Given the description of an element on the screen output the (x, y) to click on. 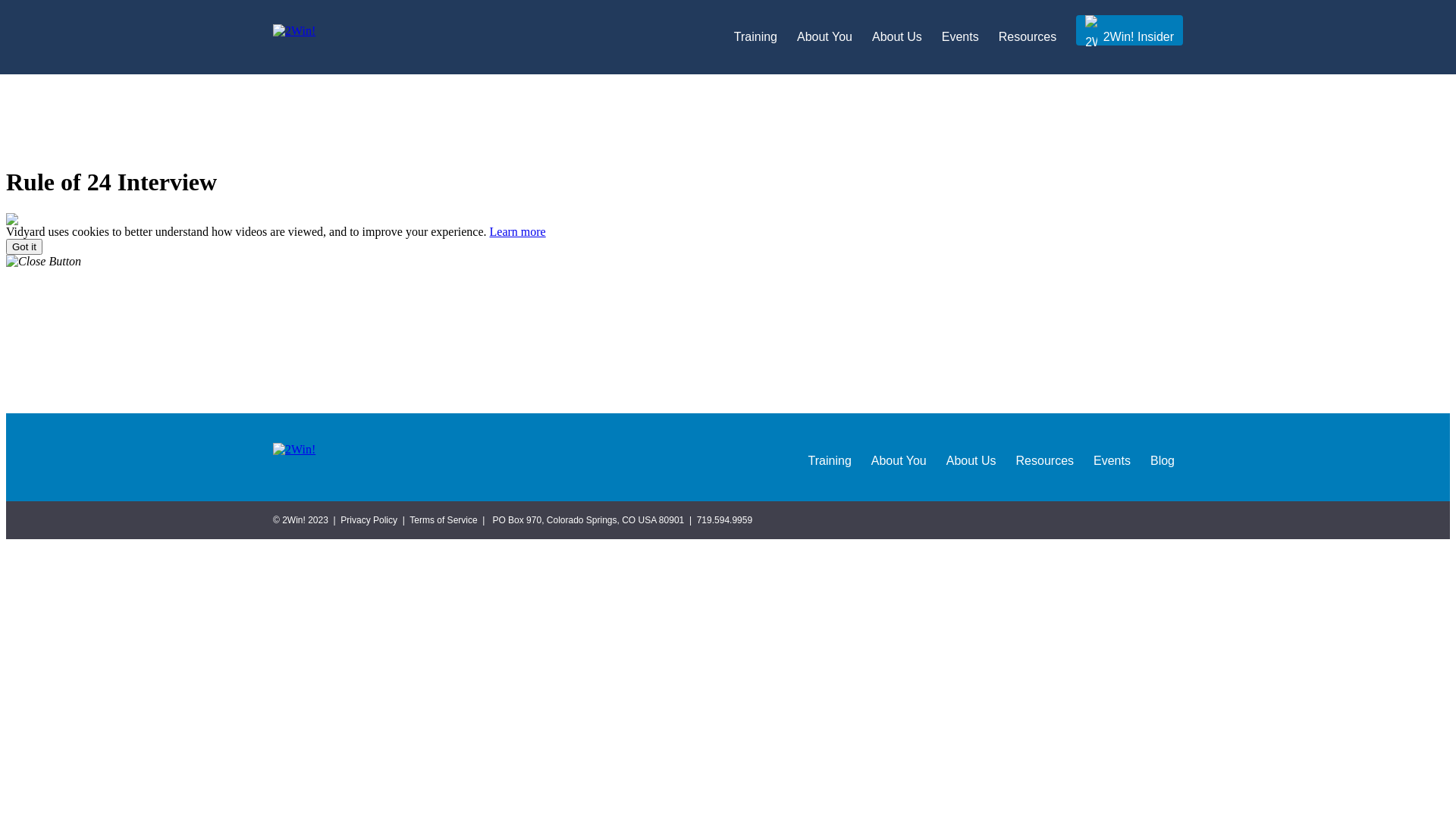
Resources Element type: text (1044, 456)
Events Element type: text (960, 37)
Training Element type: text (829, 456)
Terms of Service Element type: text (442, 519)
Blog Element type: text (1162, 456)
Events Element type: text (1112, 456)
About Us Element type: text (896, 37)
2Win! Insider Element type: text (1129, 30)
About Us Element type: text (971, 456)
About You Element type: text (898, 456)
Resources Element type: text (1027, 37)
Training Element type: text (755, 37)
Learn more Element type: text (517, 231)
Got it Element type: text (24, 246)
Privacy Policy Element type: text (368, 519)
About You Element type: text (824, 37)
